Given the description of an element on the screen output the (x, y) to click on. 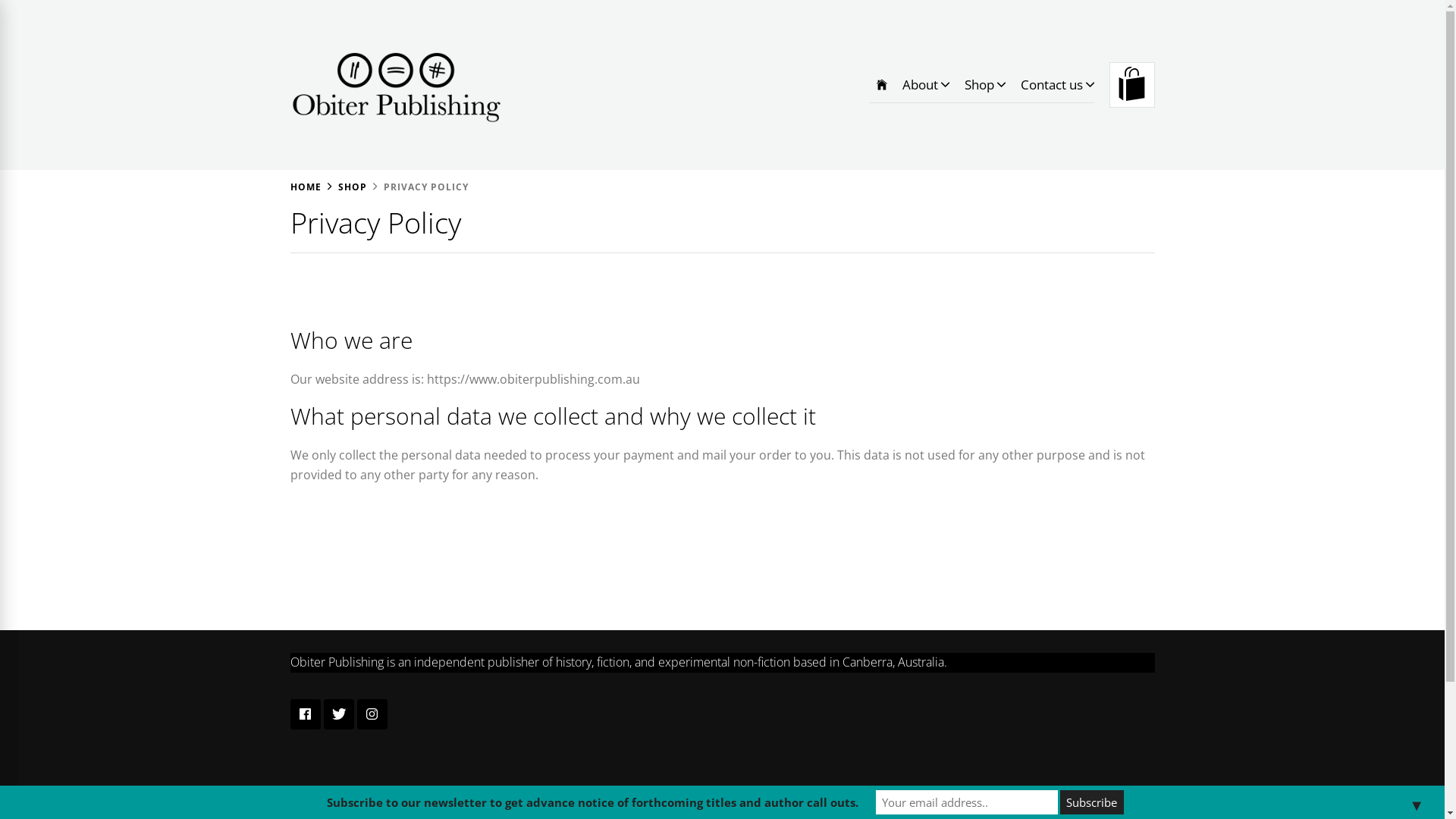
HOME Element type: text (304, 186)
Home Element type: hover (881, 84)
PRIVACY POLICY Element type: text (417, 186)
OBITER PUBLISHING Element type: text (418, 146)
Subscribe Element type: text (1091, 802)
Contact us Element type: text (1053, 84)
SHOP Element type: text (344, 186)
Shop Element type: text (985, 84)
About Element type: text (925, 84)
